Given the description of an element on the screen output the (x, y) to click on. 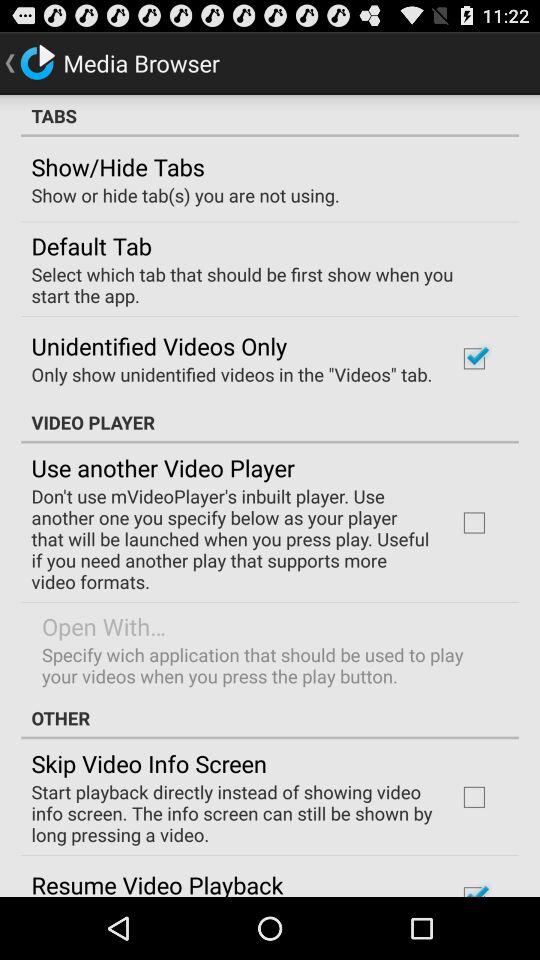
select second check box which is on the right side of the page (474, 523)
